Given the description of an element on the screen output the (x, y) to click on. 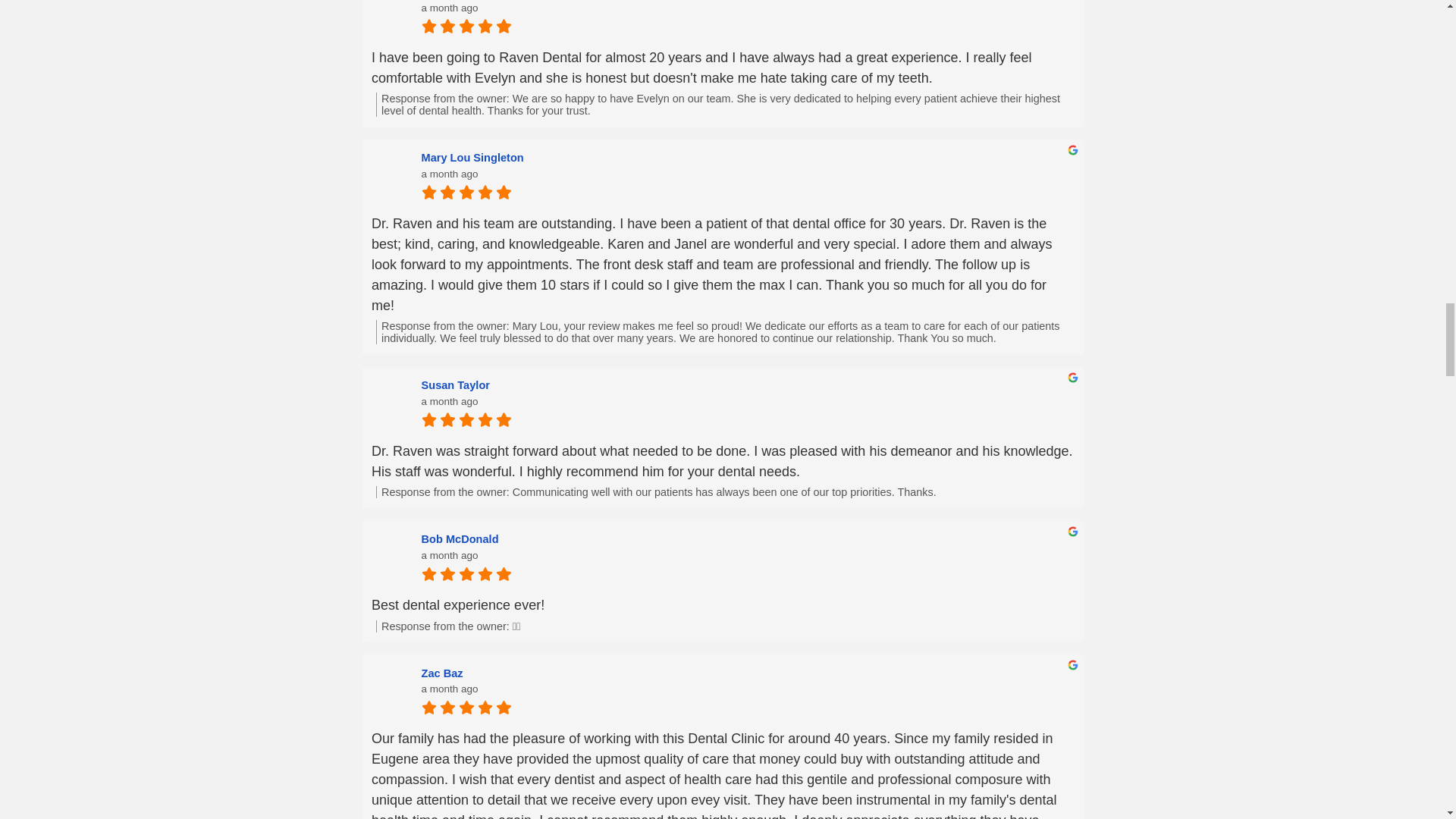
Best dental experience ever! (722, 605)
